Given the description of an element on the screen output the (x, y) to click on. 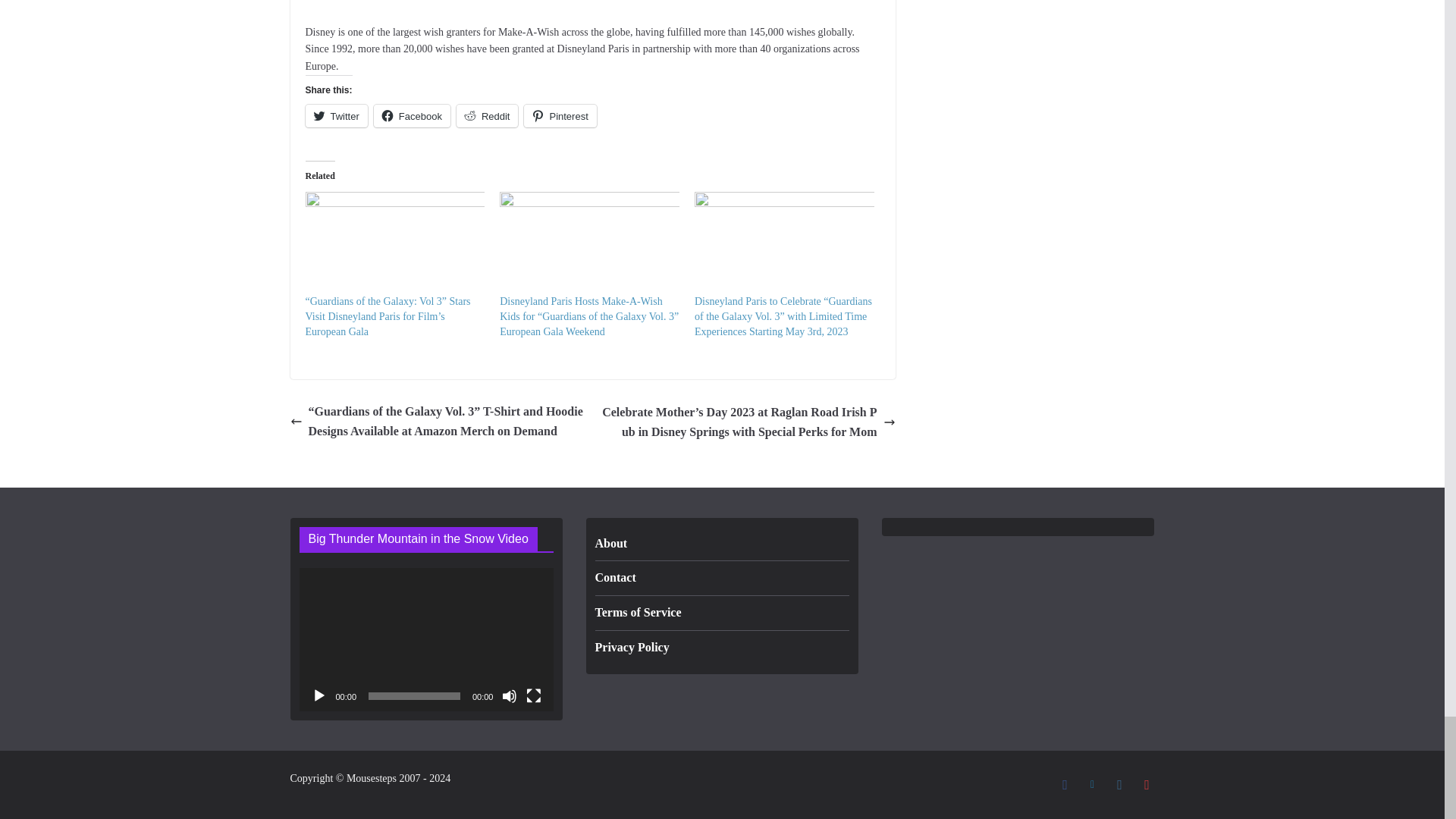
Click to share on Facebook (411, 115)
Click to share on Twitter (335, 115)
Click to share on Pinterest (559, 115)
Click to share on Reddit (487, 115)
